Given the description of an element on the screen output the (x, y) to click on. 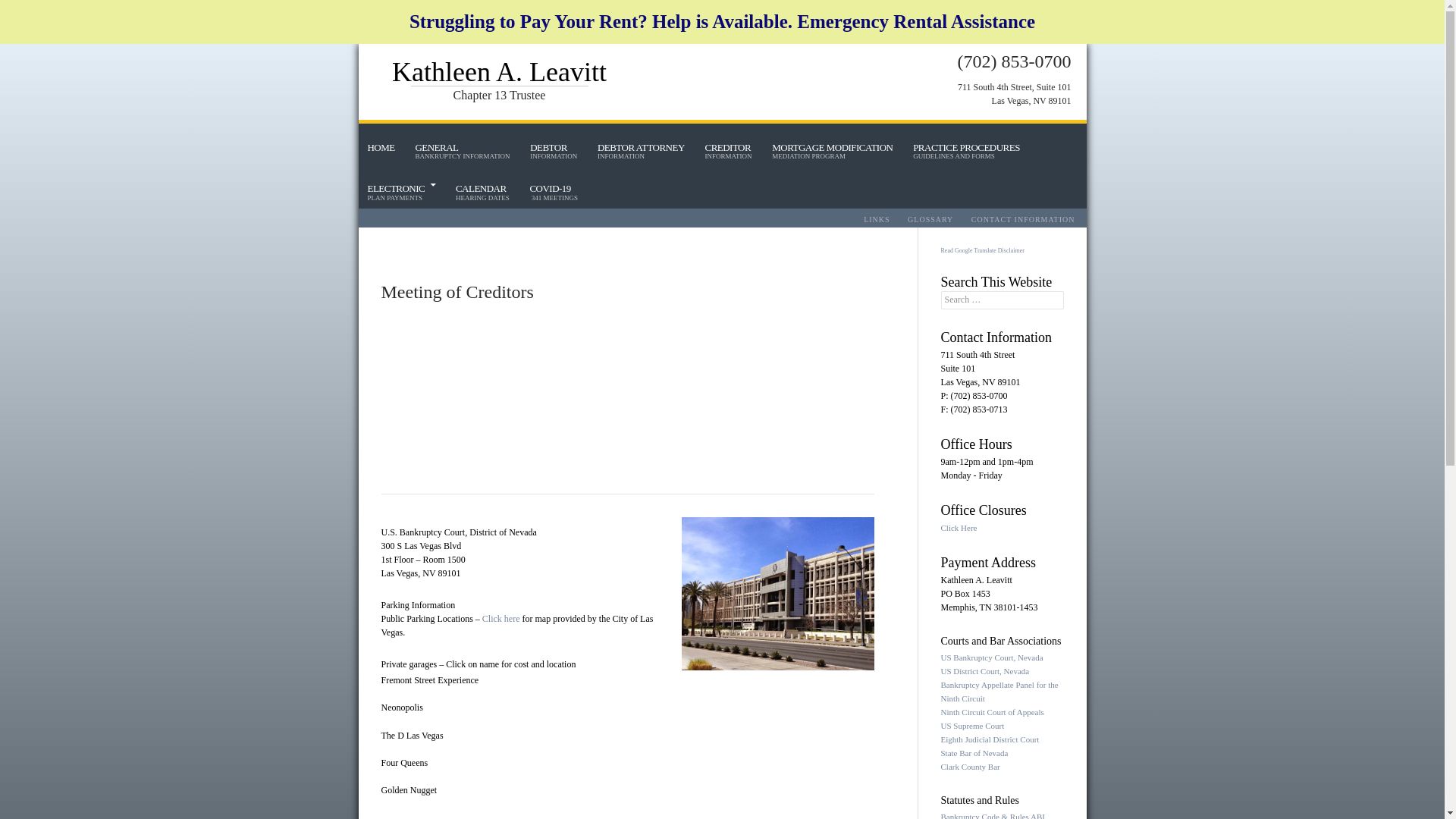
GLOSSARY (930, 219)
Read Google Translate Disclaimer (981, 250)
SKIP TO CONTENT (552, 187)
Eighth Judicial District Court (406, 139)
LINKS (989, 738)
US Bankruptcy Court, Nevada (831, 146)
Clark County Bar (876, 219)
US District Court, Nevada (991, 656)
Search (728, 146)
